Given the description of an element on the screen output the (x, y) to click on. 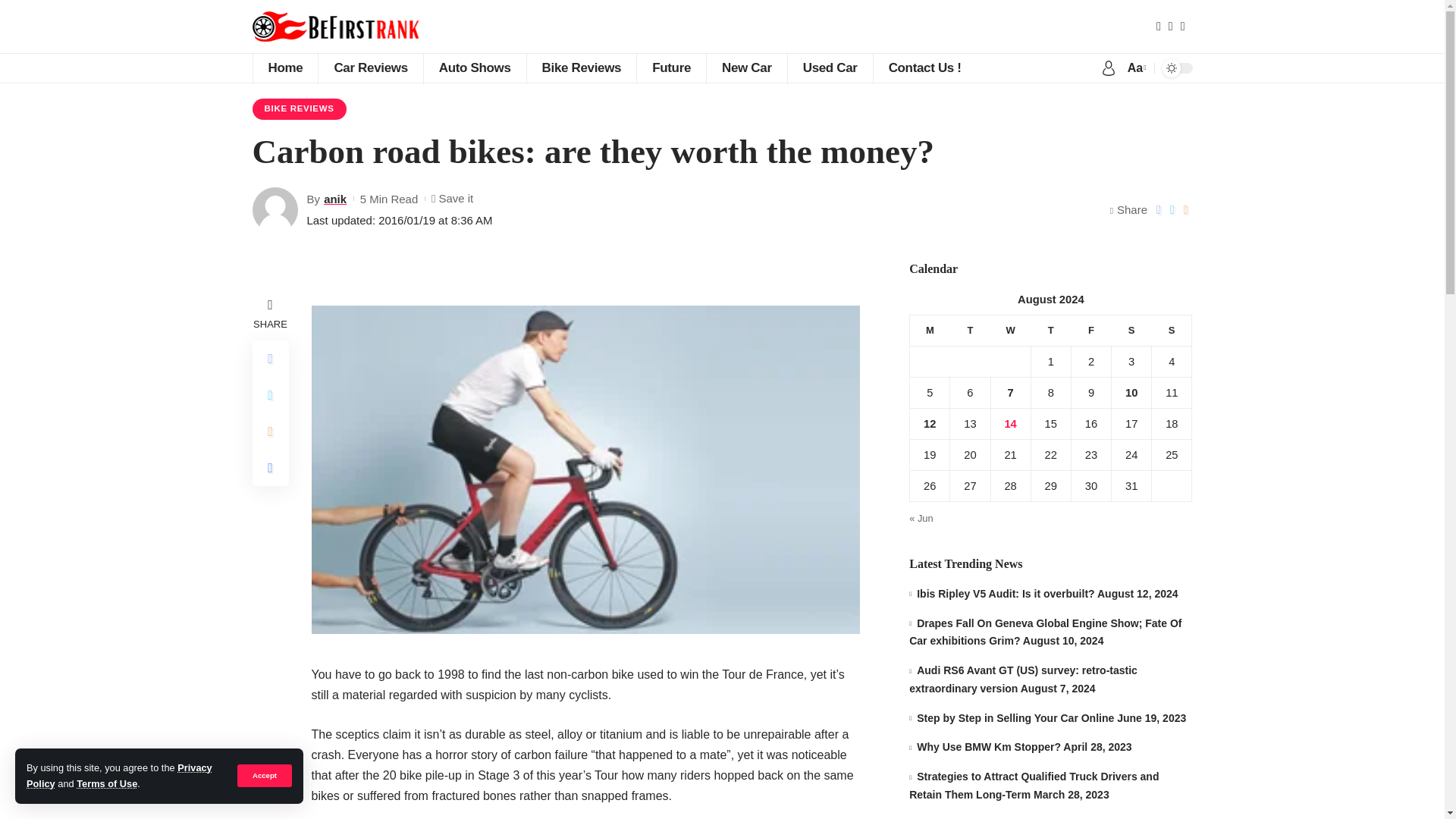
Sunday (1171, 329)
Accept (264, 775)
Monday (930, 329)
Used Car (829, 68)
Bike Reviews (581, 68)
Saturday (1131, 329)
Future (671, 68)
BeFirsTrank (354, 26)
Car Reviews (369, 68)
Thursday (1050, 329)
